Given the description of an element on the screen output the (x, y) to click on. 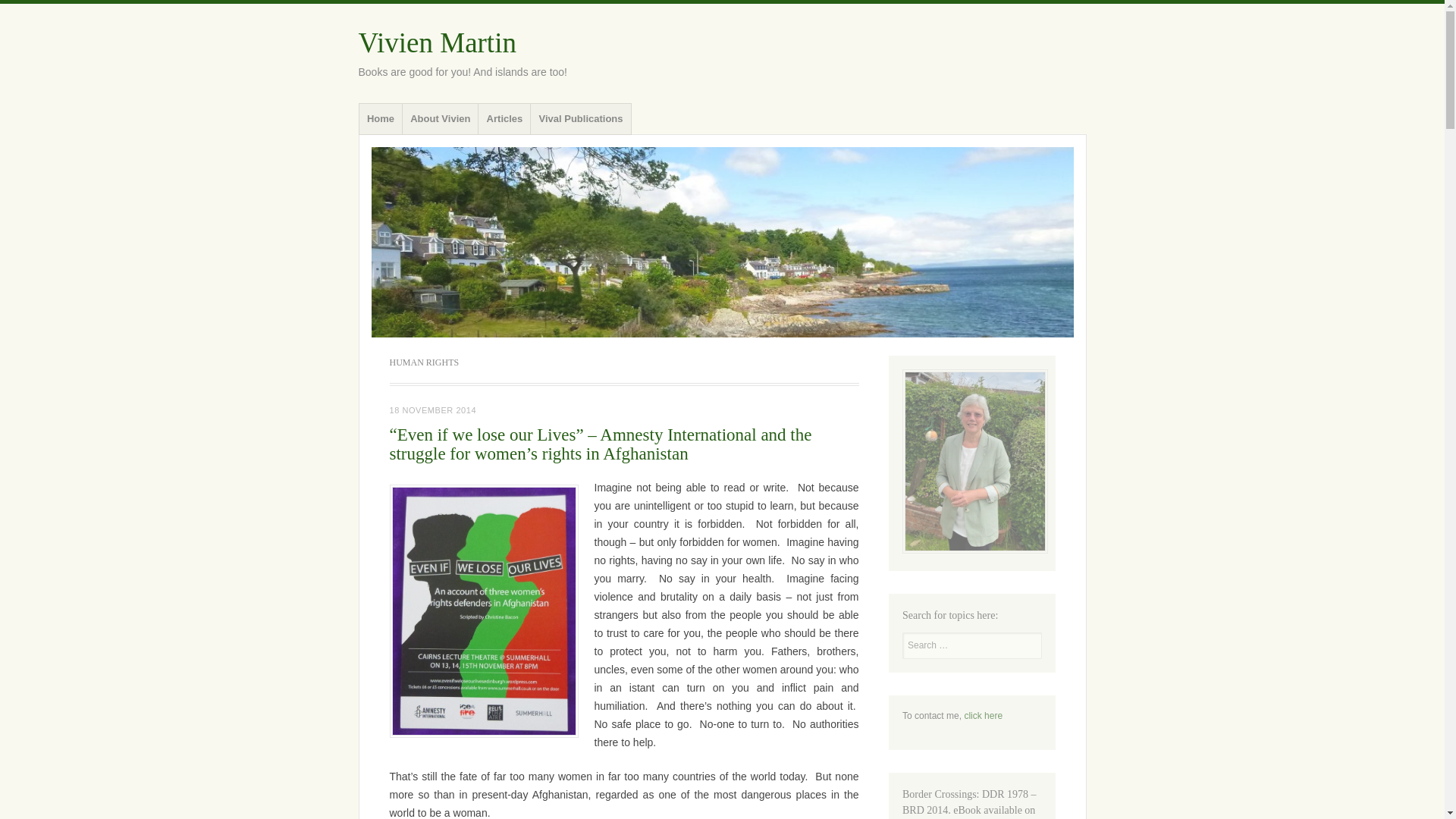
Vivien Martin (436, 42)
Vivien Martin (722, 242)
Articles (504, 119)
Vivien Martin (436, 42)
22:27 (433, 409)
About Vivien (440, 119)
click here (983, 715)
18 NOVEMBER 2014 (433, 409)
Home (380, 119)
Vival Publications (580, 119)
